Given the description of an element on the screen output the (x, y) to click on. 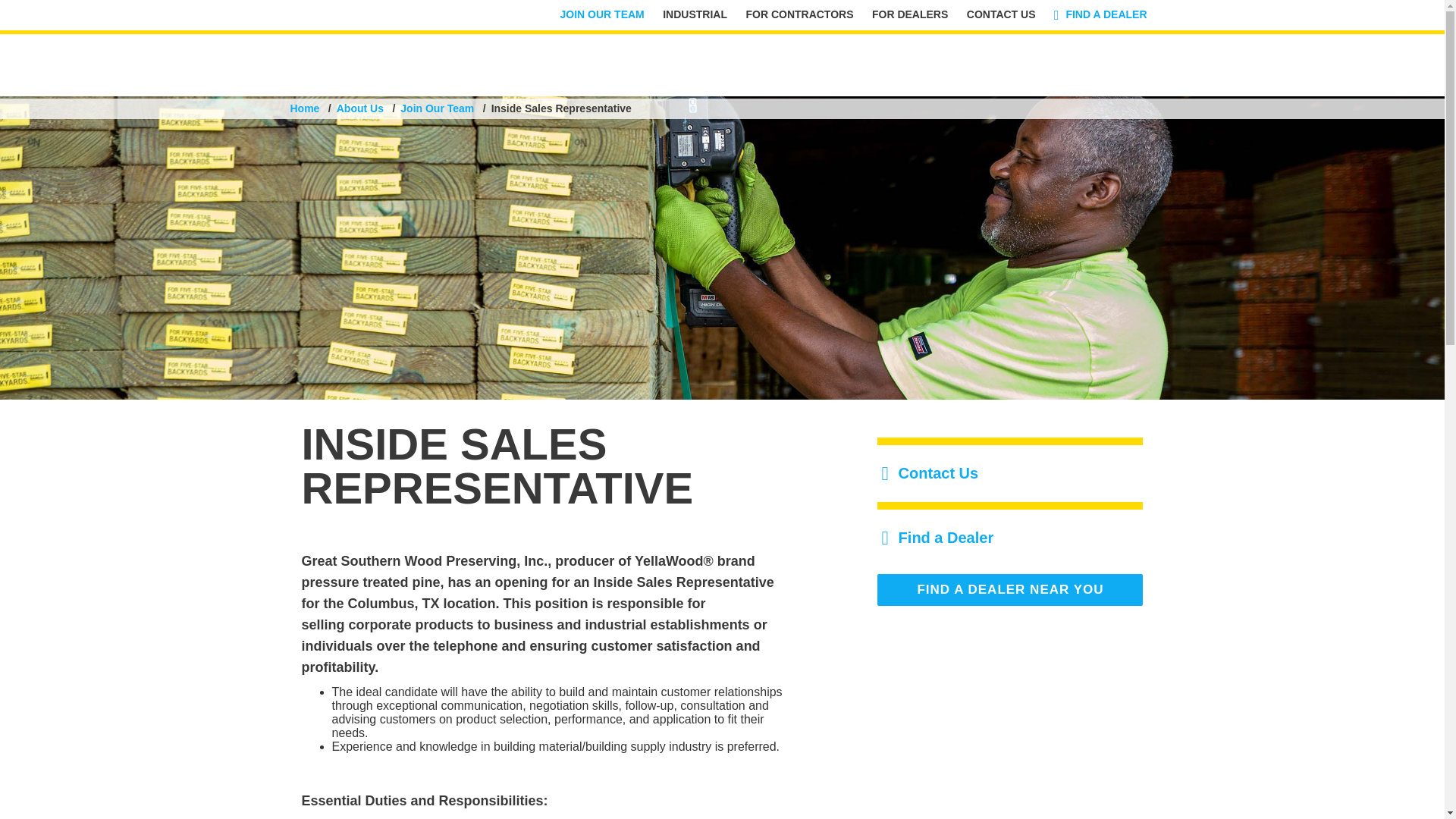
CONTACT US (1001, 14)
RESOURCES (1065, 61)
FIND A DEALER (1100, 14)
FOR DEALERS (909, 14)
INDUSTRIAL (695, 14)
FOR CONTRACTORS (799, 14)
OUTDOOR LIVING (757, 61)
JOIN OUR TEAM (602, 14)
DIY PROJECTS (921, 61)
PRODUCTS (601, 61)
